Given the description of an element on the screen output the (x, y) to click on. 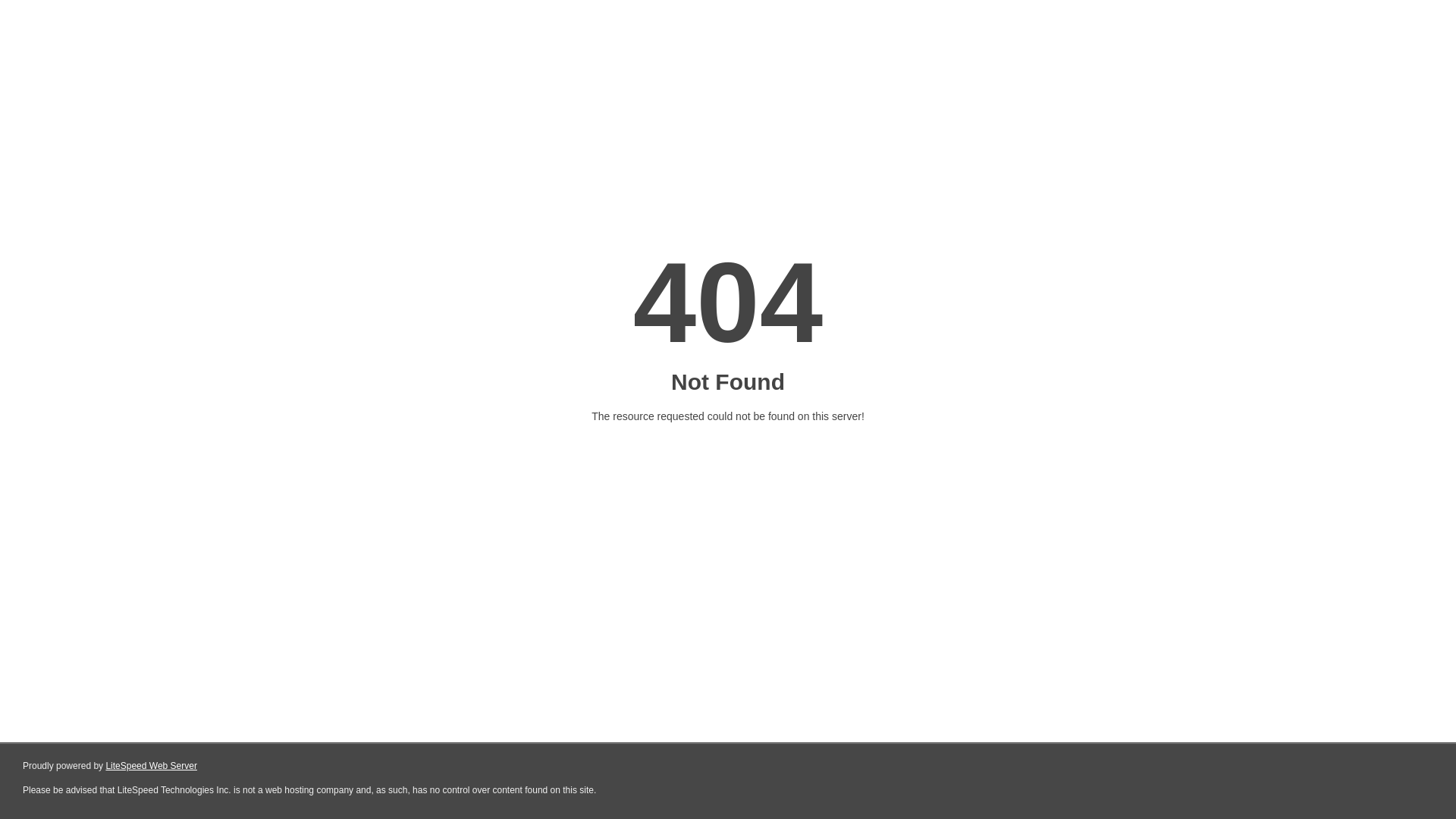
LiteSpeed Web Server Element type: text (151, 765)
